Given the description of an element on the screen output the (x, y) to click on. 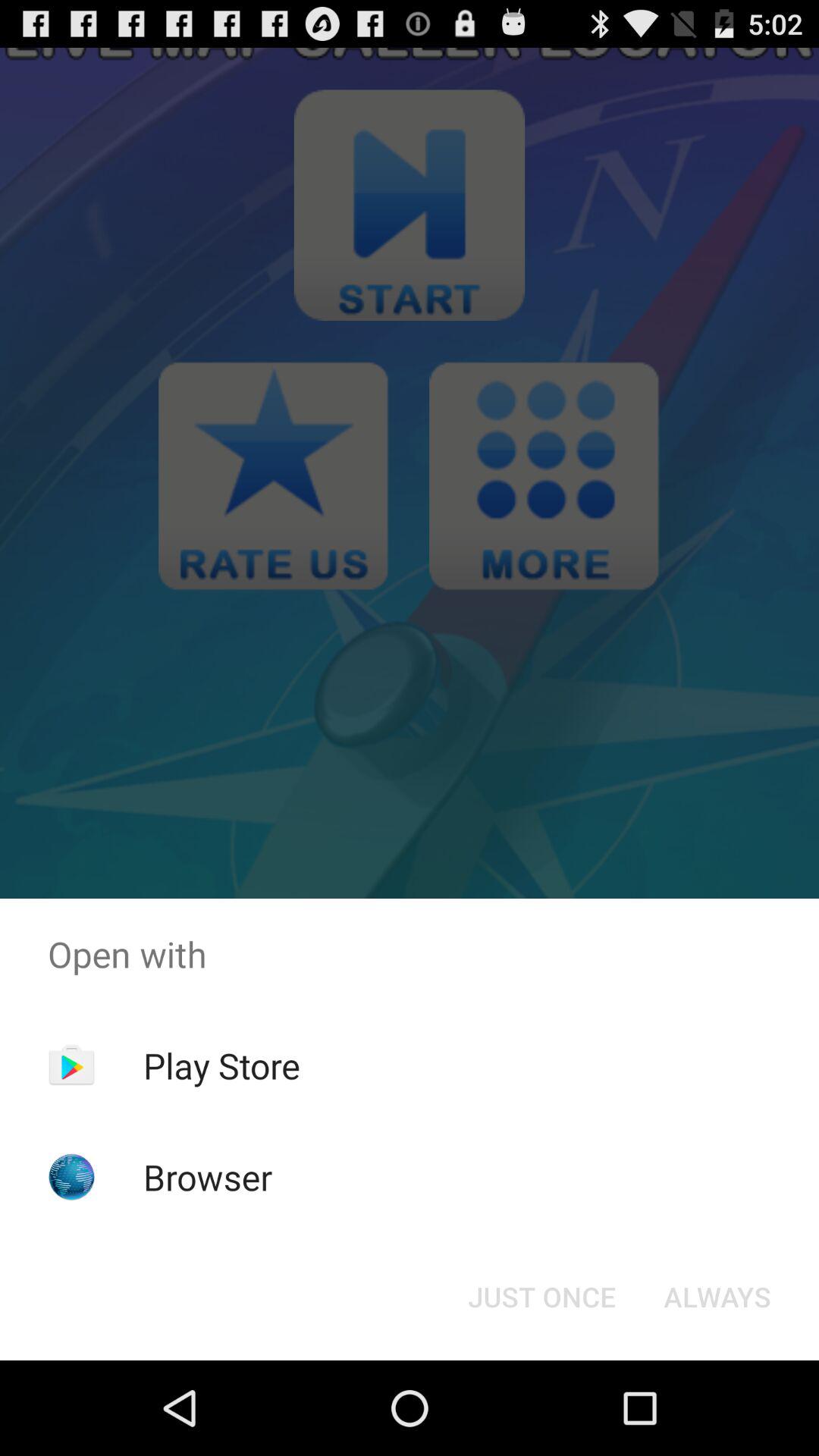
open browser item (207, 1176)
